Given the description of an element on the screen output the (x, y) to click on. 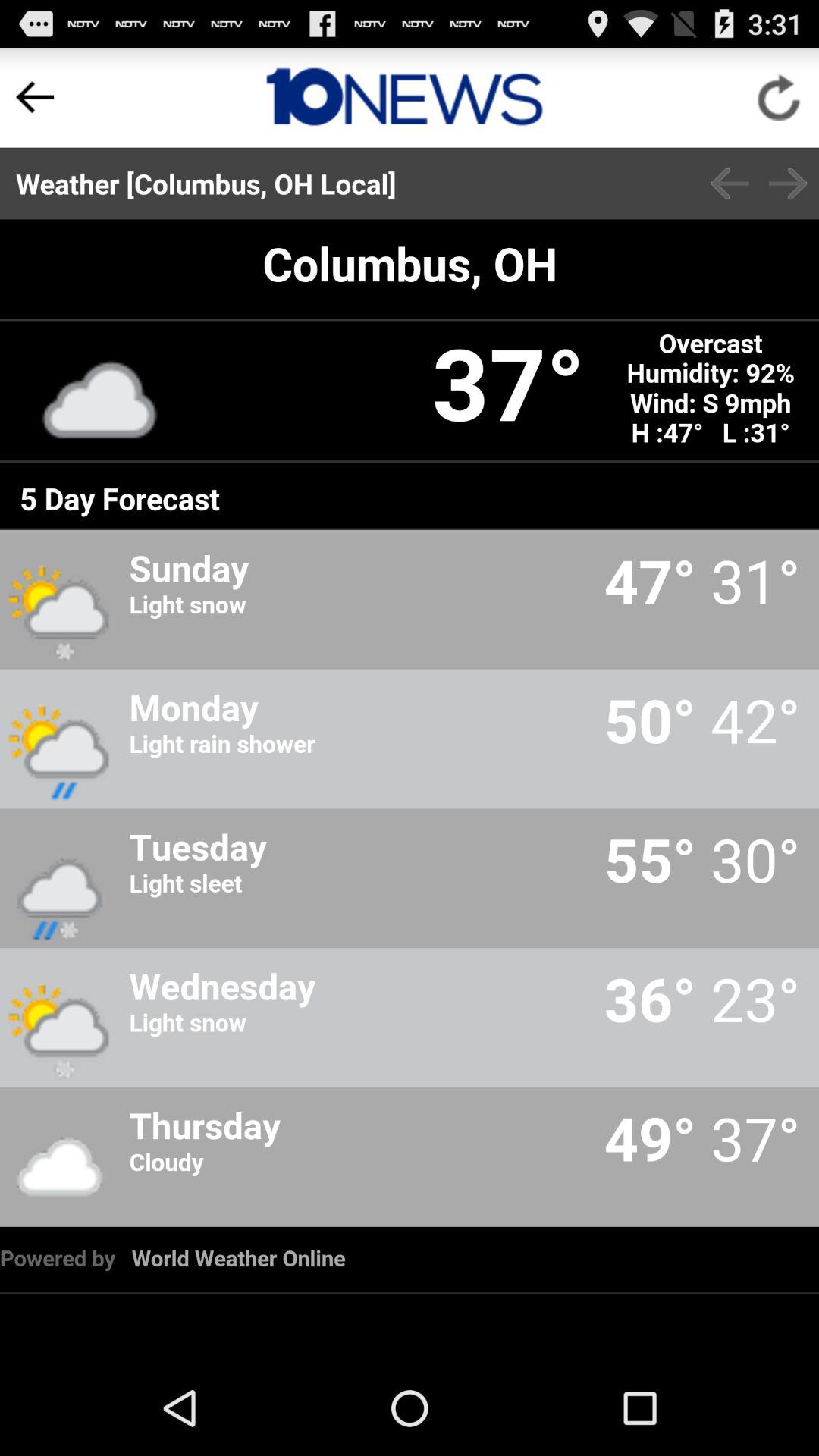
go to previous (729, 183)
